Given the description of an element on the screen output the (x, y) to click on. 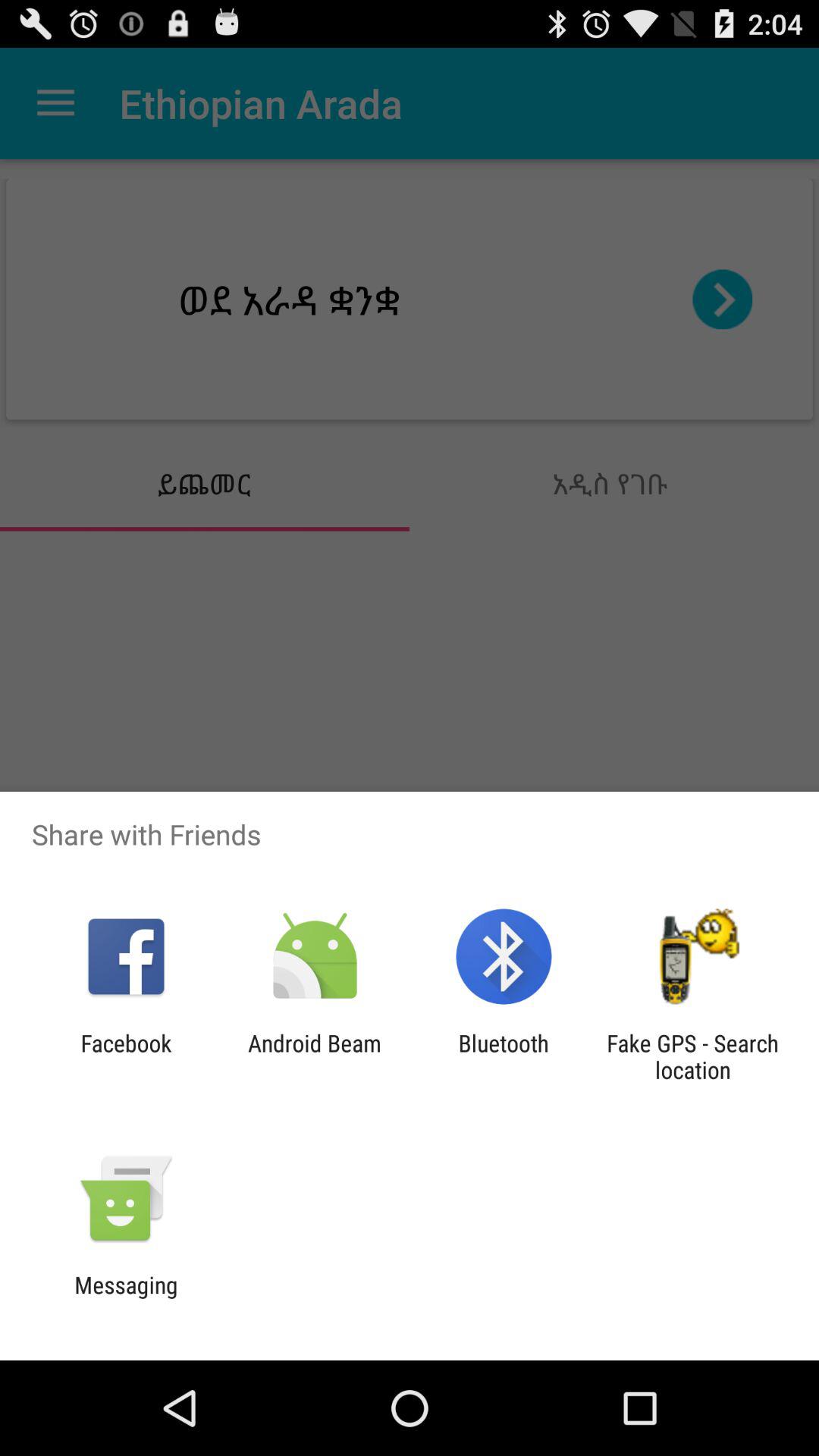
flip to the facebook app (125, 1056)
